Given the description of an element on the screen output the (x, y) to click on. 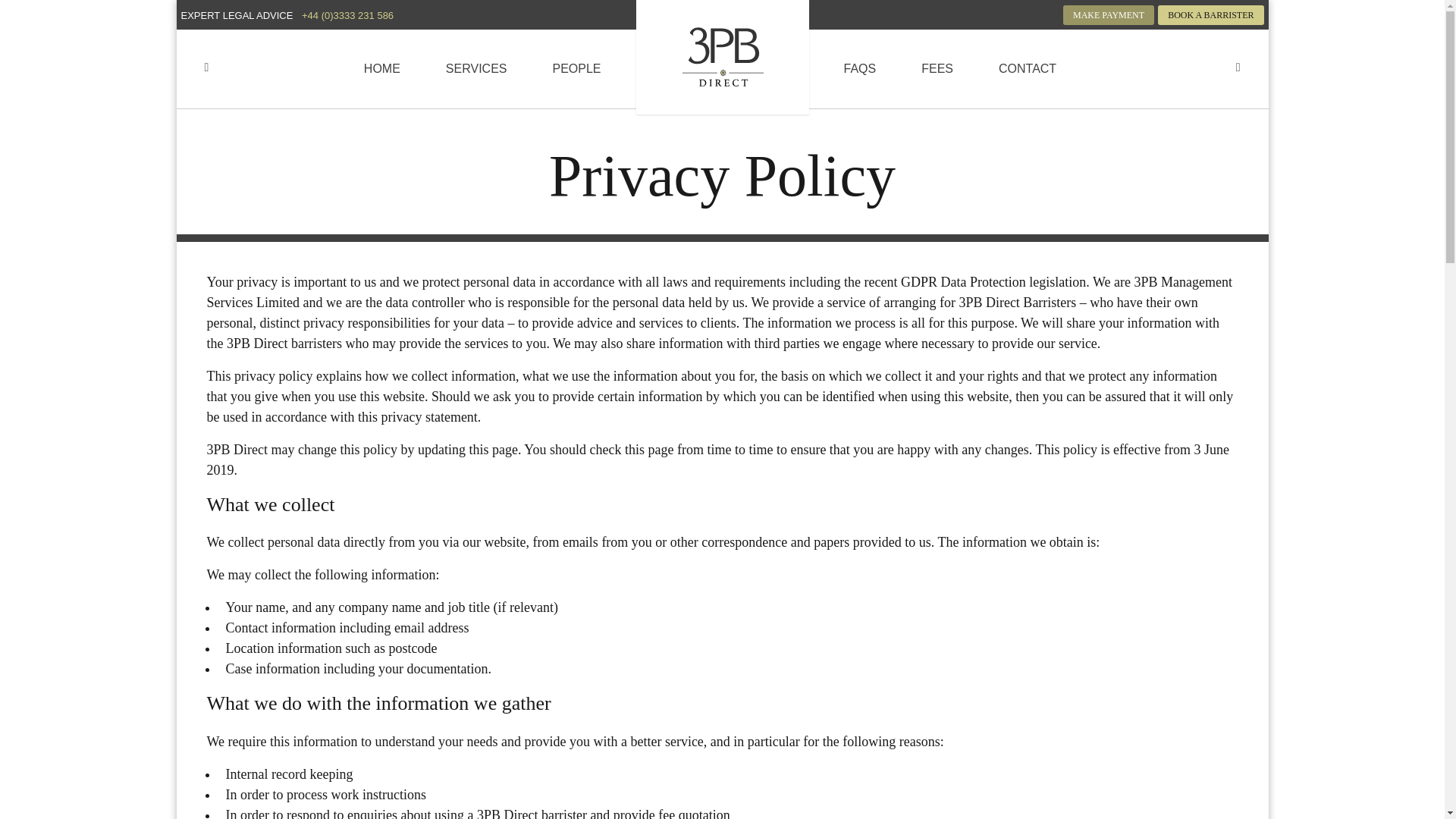
BOOK A BARRISTER (1210, 14)
CONTACT (1026, 68)
3PB Direct - Expert Legal Advice (721, 56)
FEES (936, 68)
SERVICES (476, 68)
MAKE PAYMENT (1108, 14)
FAQS (859, 68)
HOME (381, 68)
PEOPLE (576, 68)
